Given the description of an element on the screen output the (x, y) to click on. 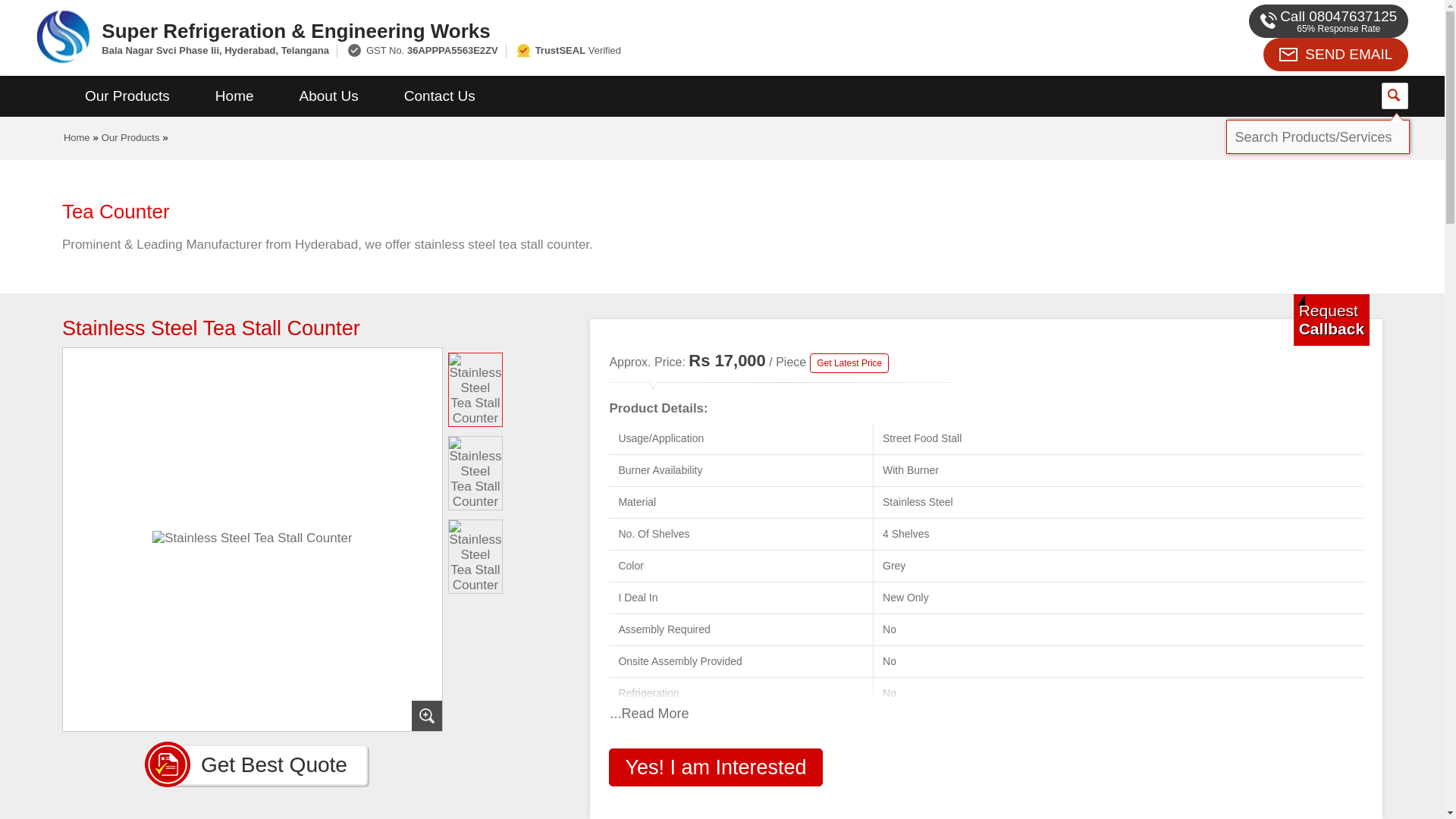
Get a Call from us (1332, 319)
Our Products (127, 96)
